Given the description of an element on the screen output the (x, y) to click on. 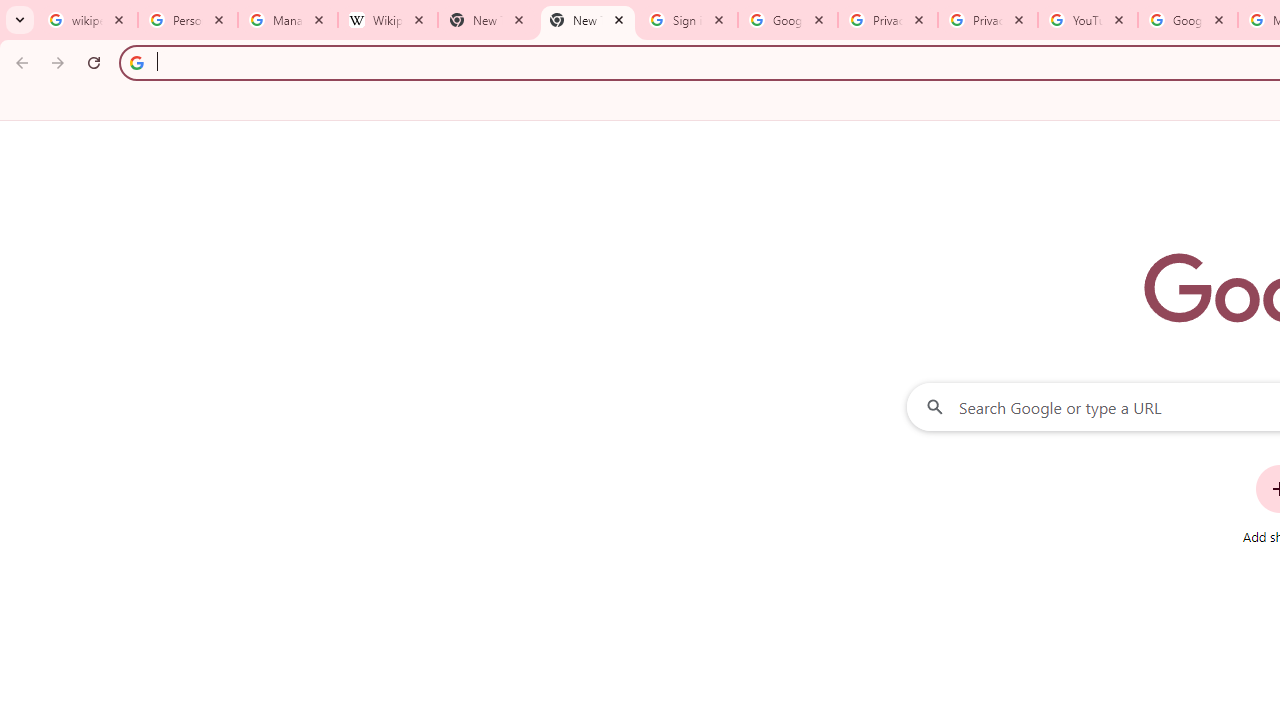
Sign in - Google Accounts (687, 20)
